Given the description of an element on the screen output the (x, y) to click on. 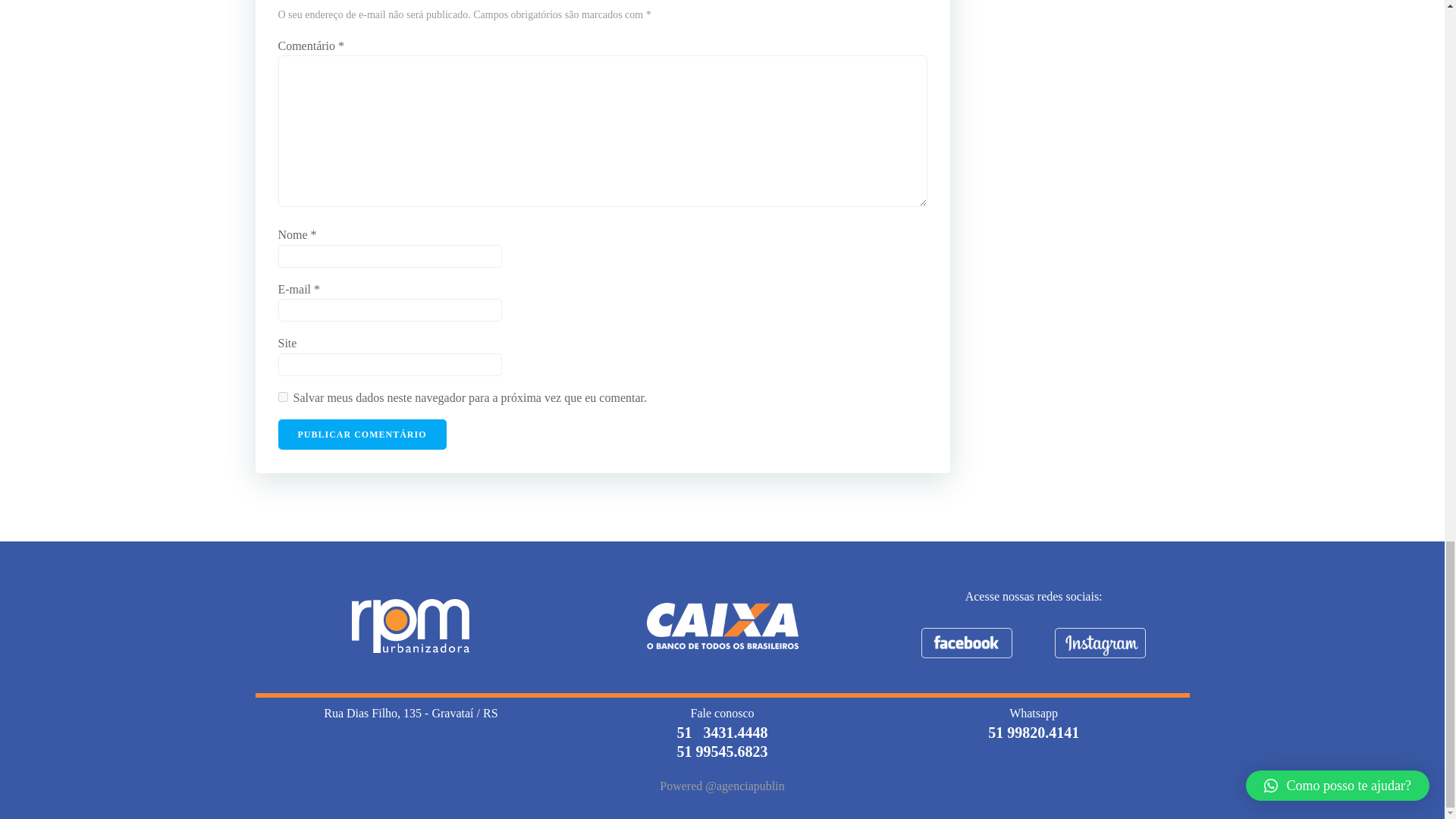
51 99820.4141 (1033, 732)
yes (282, 397)
